Given the description of an element on the screen output the (x, y) to click on. 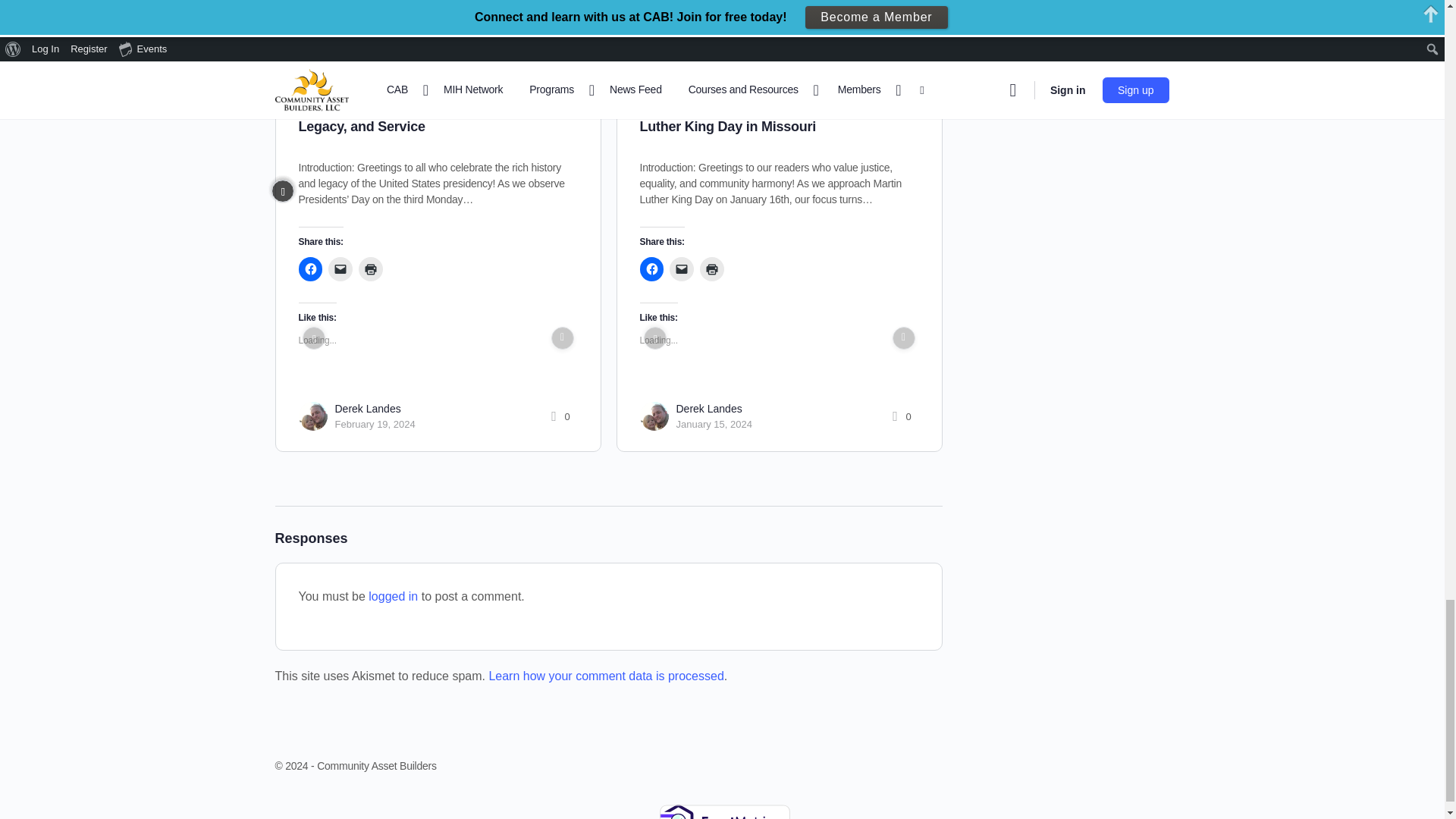
Click to share on Facebook (310, 269)
Click to email a link to a friend (340, 269)
Click to print (711, 269)
Click to email a link to a friend (681, 269)
Click to print (370, 269)
Click to share on Facebook (651, 269)
